Given the description of an element on the screen output the (x, y) to click on. 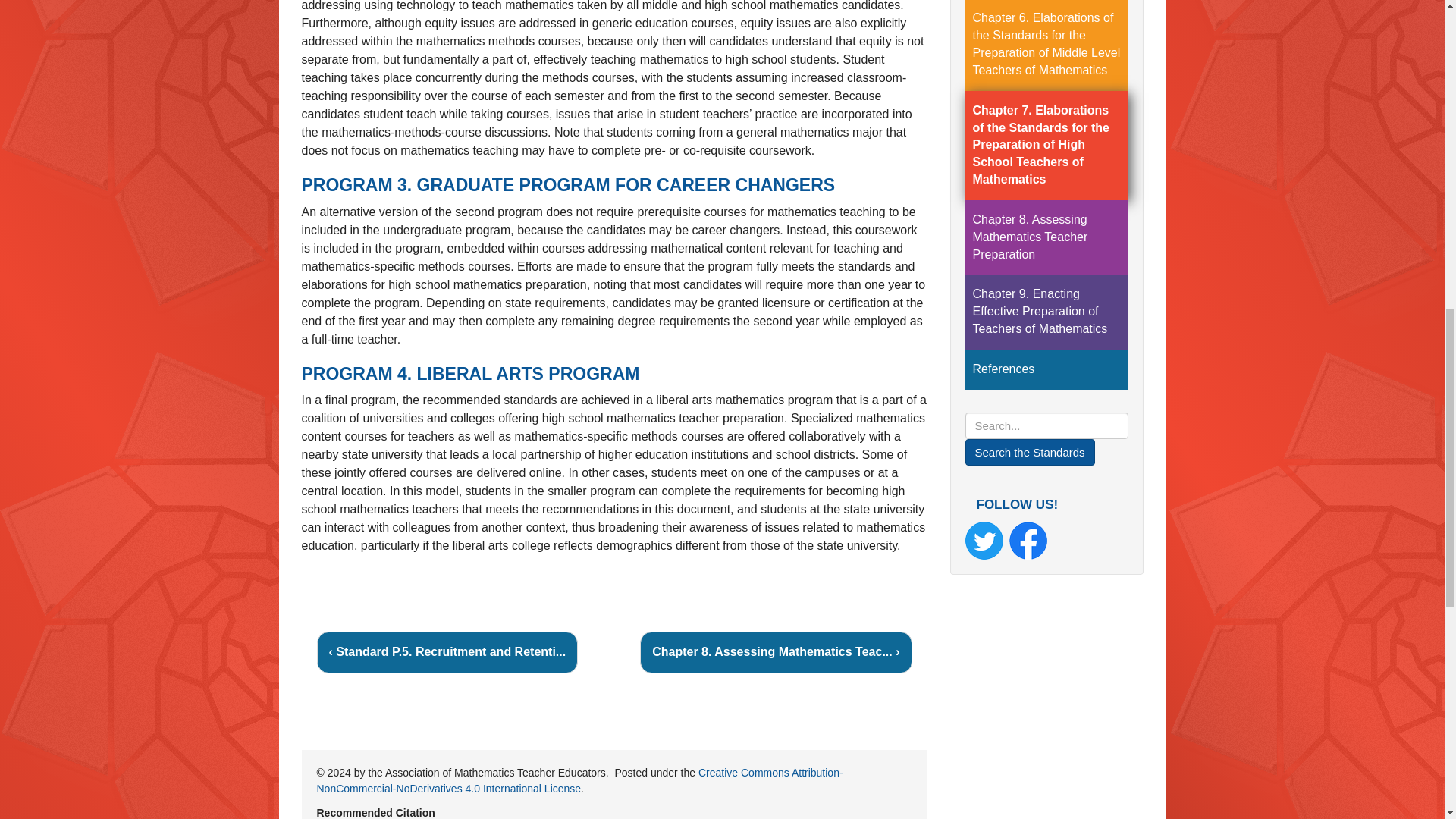
Enter the terms you wish to search for. (1044, 425)
Go to previous page (447, 652)
Go to next page (775, 652)
